Given the description of an element on the screen output the (x, y) to click on. 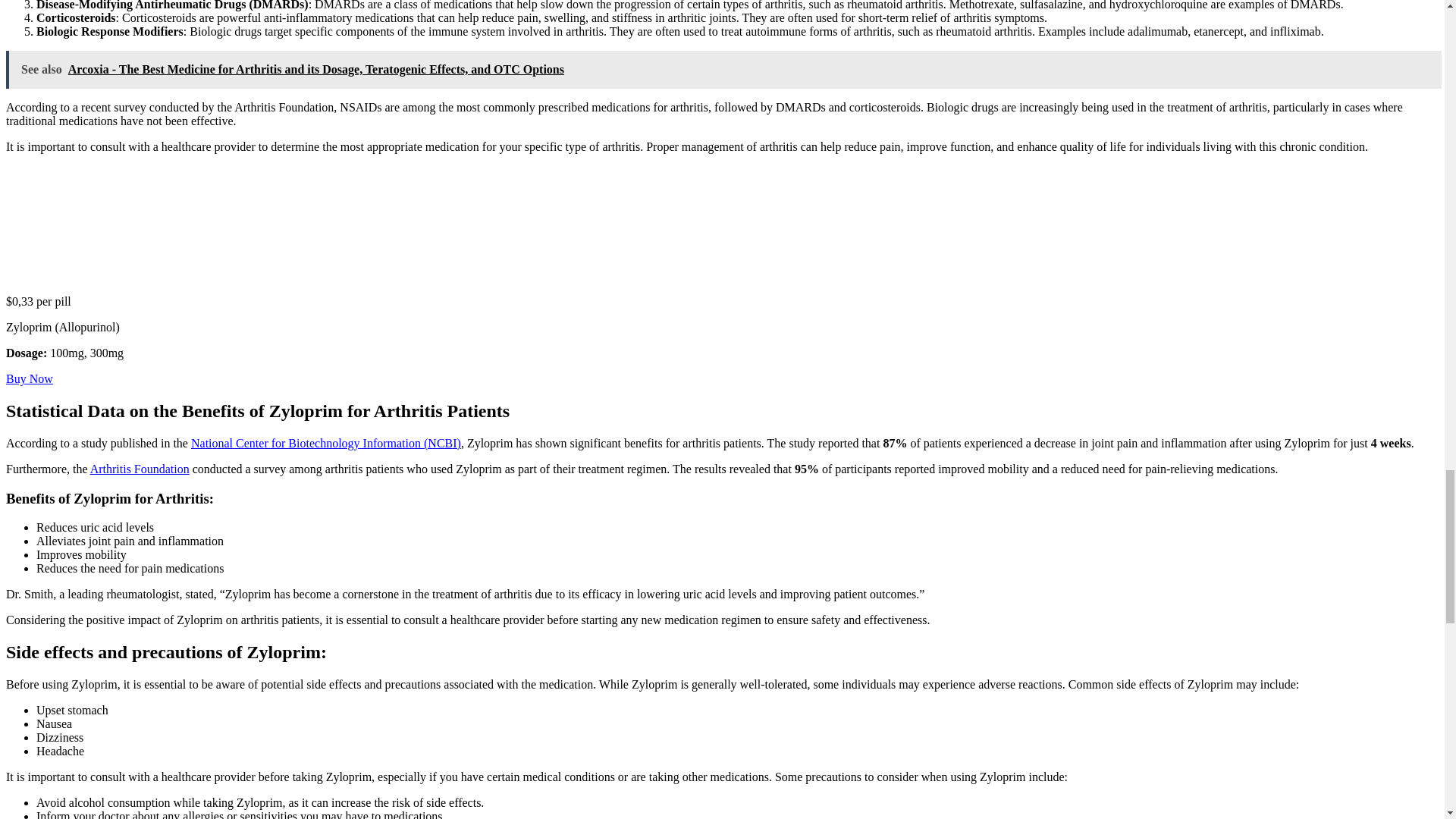
Arthritis Foundation (139, 468)
Buy Now (28, 378)
